Given the description of an element on the screen output the (x, y) to click on. 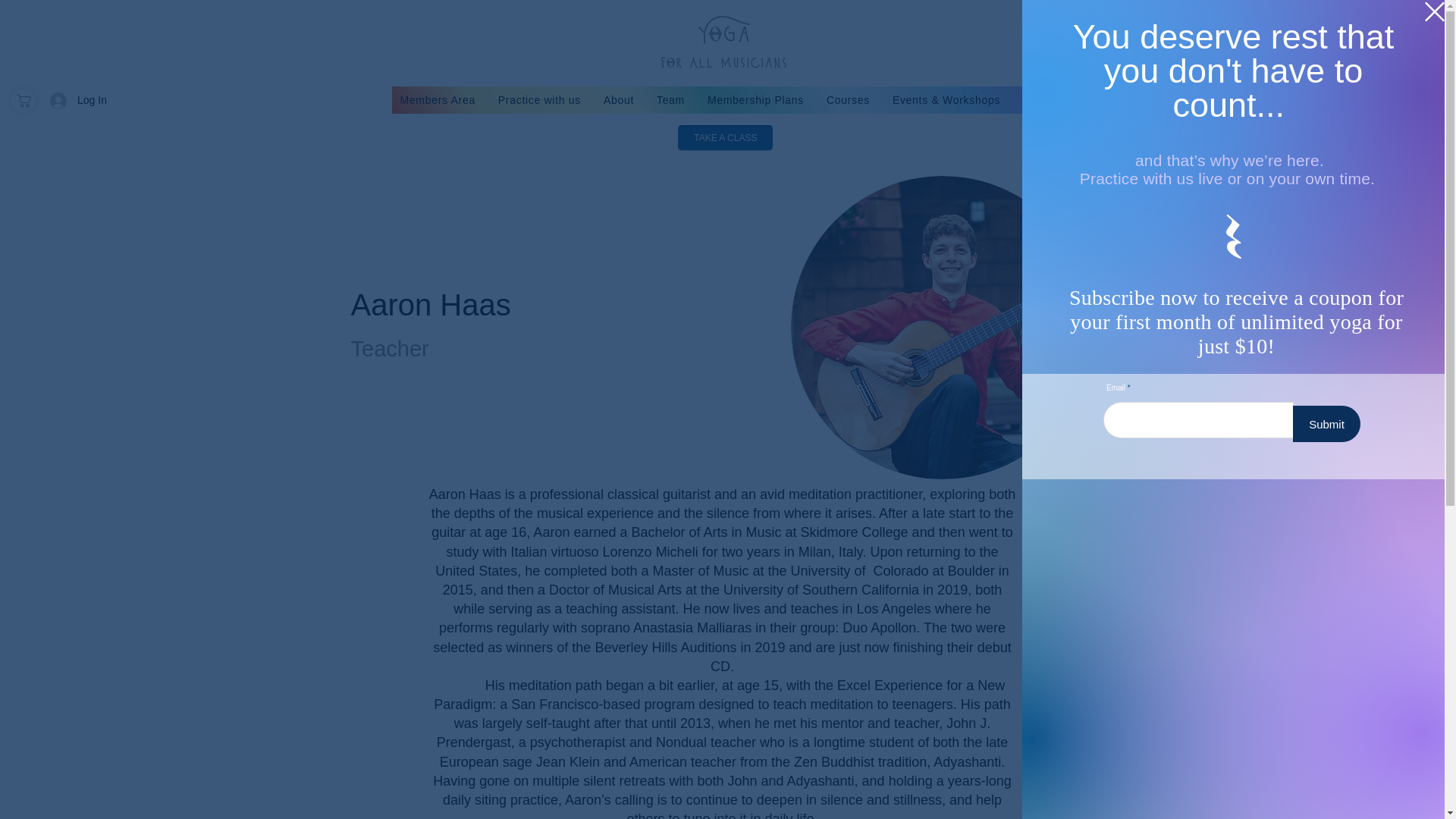
TAKE A CLASS (725, 137)
Membership Plans (755, 99)
Practice with us (539, 99)
Members Area (437, 99)
Log In (57, 100)
Courses (847, 99)
About (618, 99)
Shop (1036, 99)
Team (670, 99)
